Given the description of an element on the screen output the (x, y) to click on. 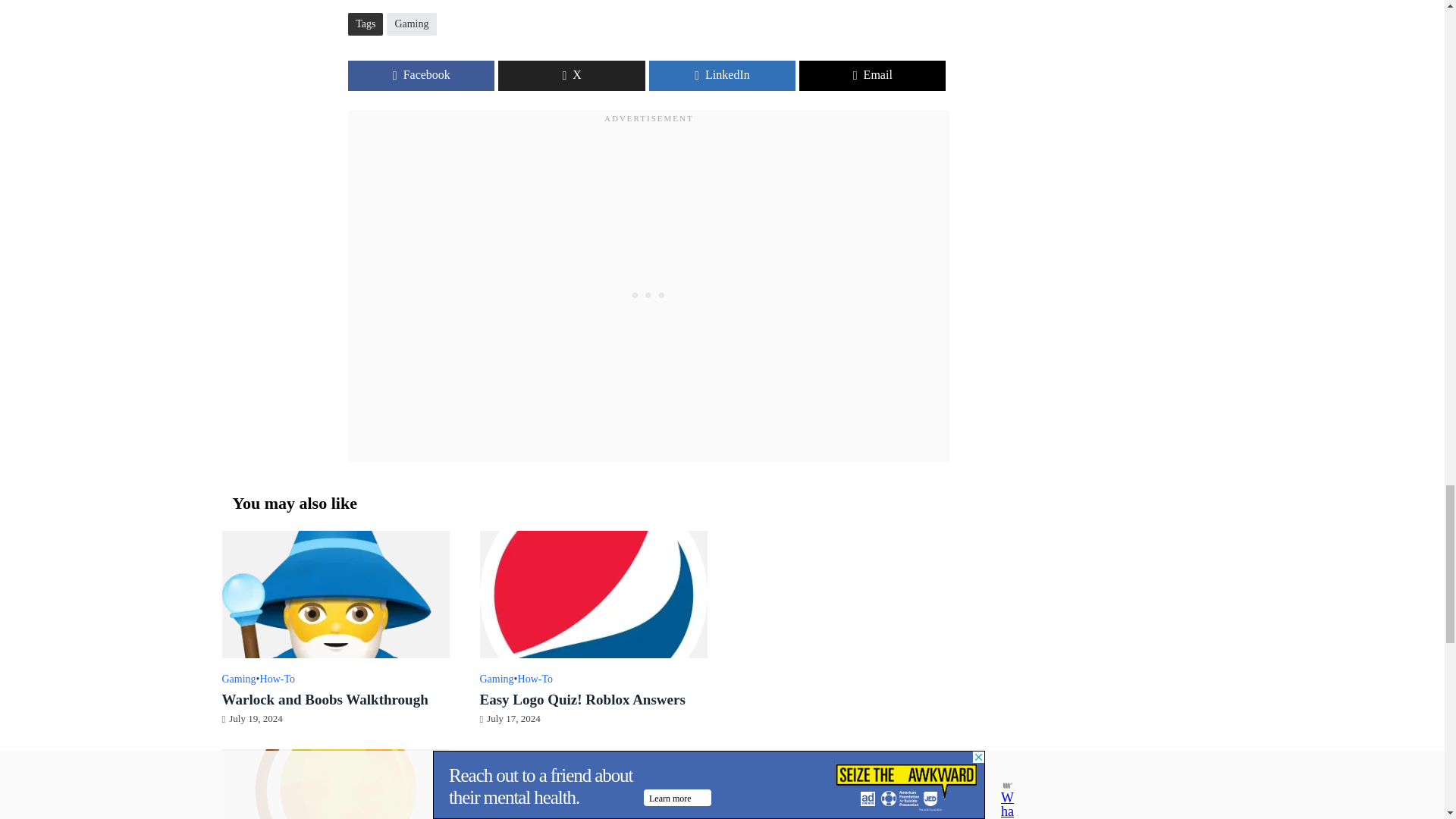
Guess The Geography Roblox Answers (334, 811)
Easy Logo Quiz! Roblox Answers (592, 592)
Warlock and Boobs Walkthrough (334, 592)
